Given the description of an element on the screen output the (x, y) to click on. 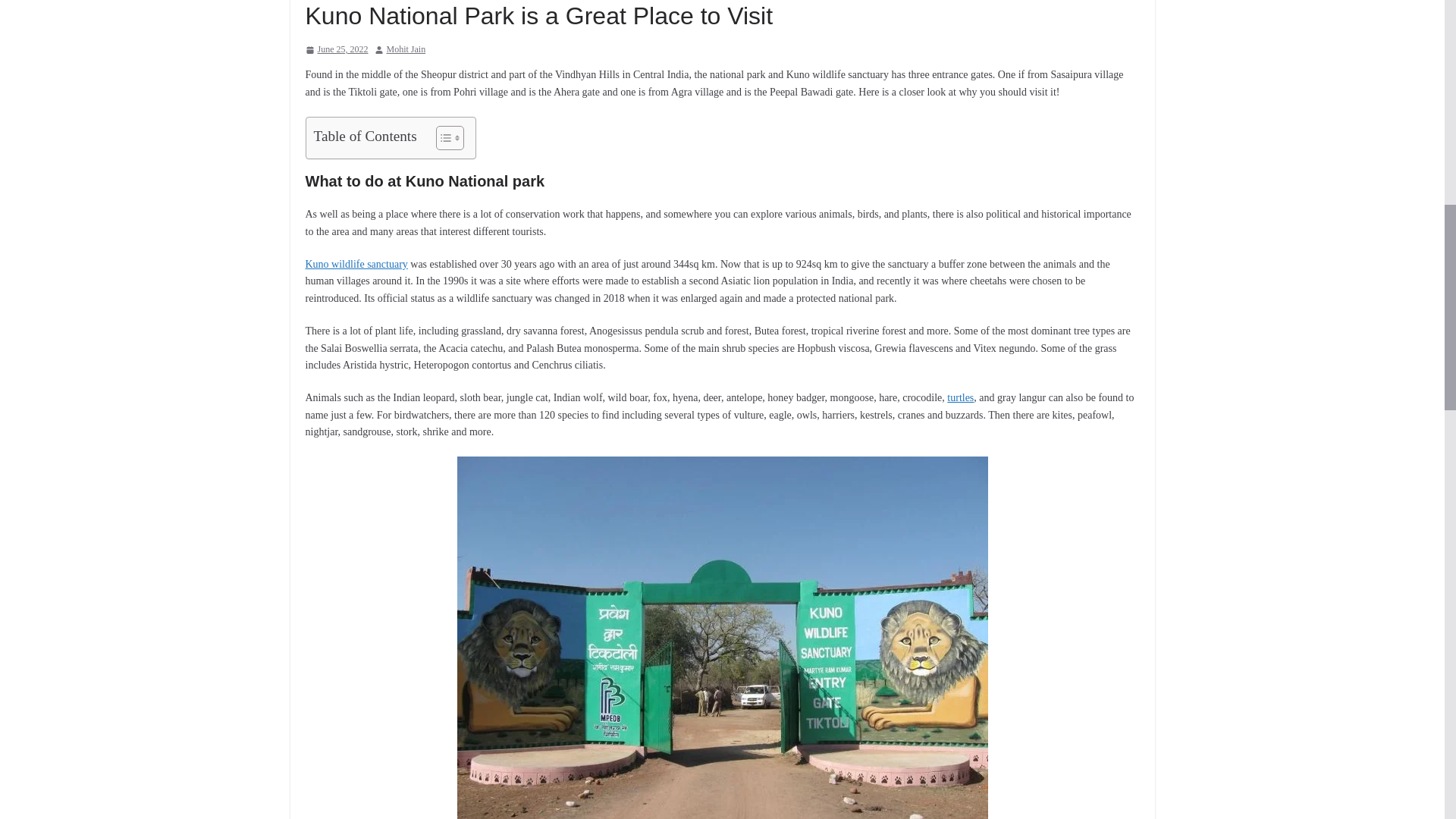
Mohit Jain (406, 49)
June 25, 2022 (336, 49)
1:37 pm (336, 49)
Mohit Jain (406, 49)
